Given the description of an element on the screen output the (x, y) to click on. 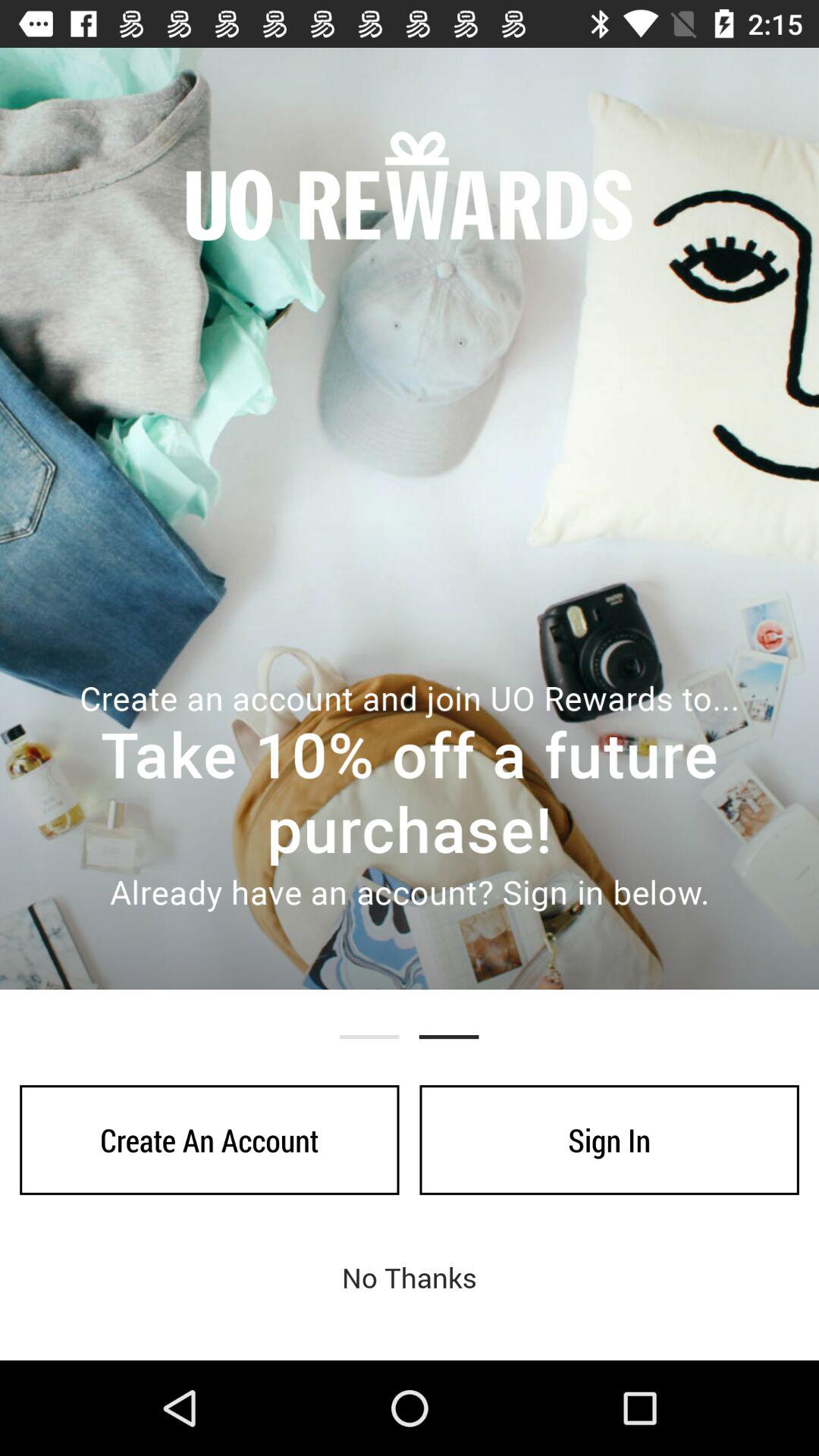
press the sign in item (609, 1139)
